Given the description of an element on the screen output the (x, y) to click on. 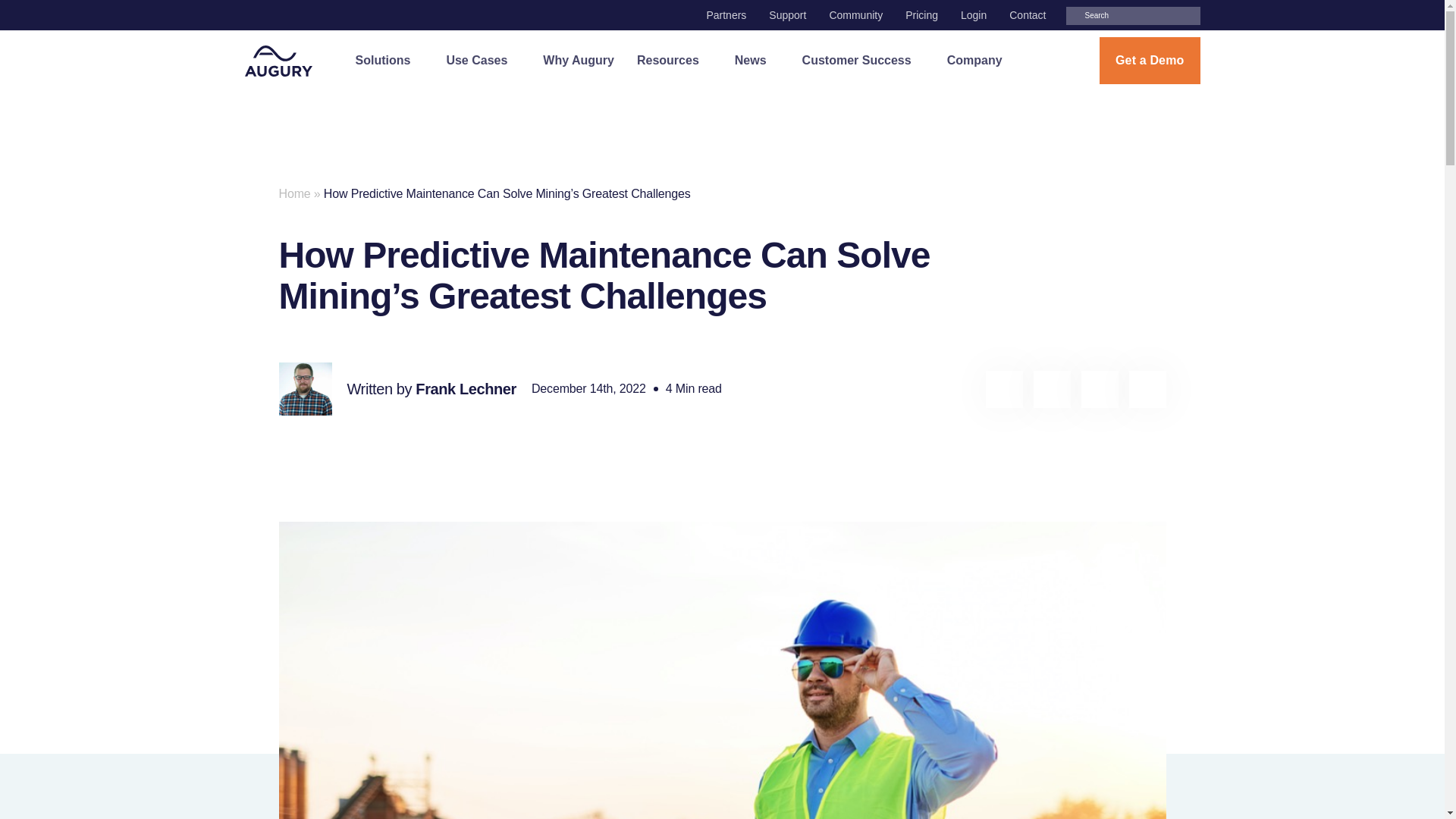
Partners (725, 15)
Use Cases (482, 60)
Solutions (389, 60)
Contact (1027, 15)
Community (855, 15)
Community (855, 15)
Search for: (1132, 15)
Use Cases (482, 60)
Support (787, 15)
Pricing (921, 15)
